Given the description of an element on the screen output the (x, y) to click on. 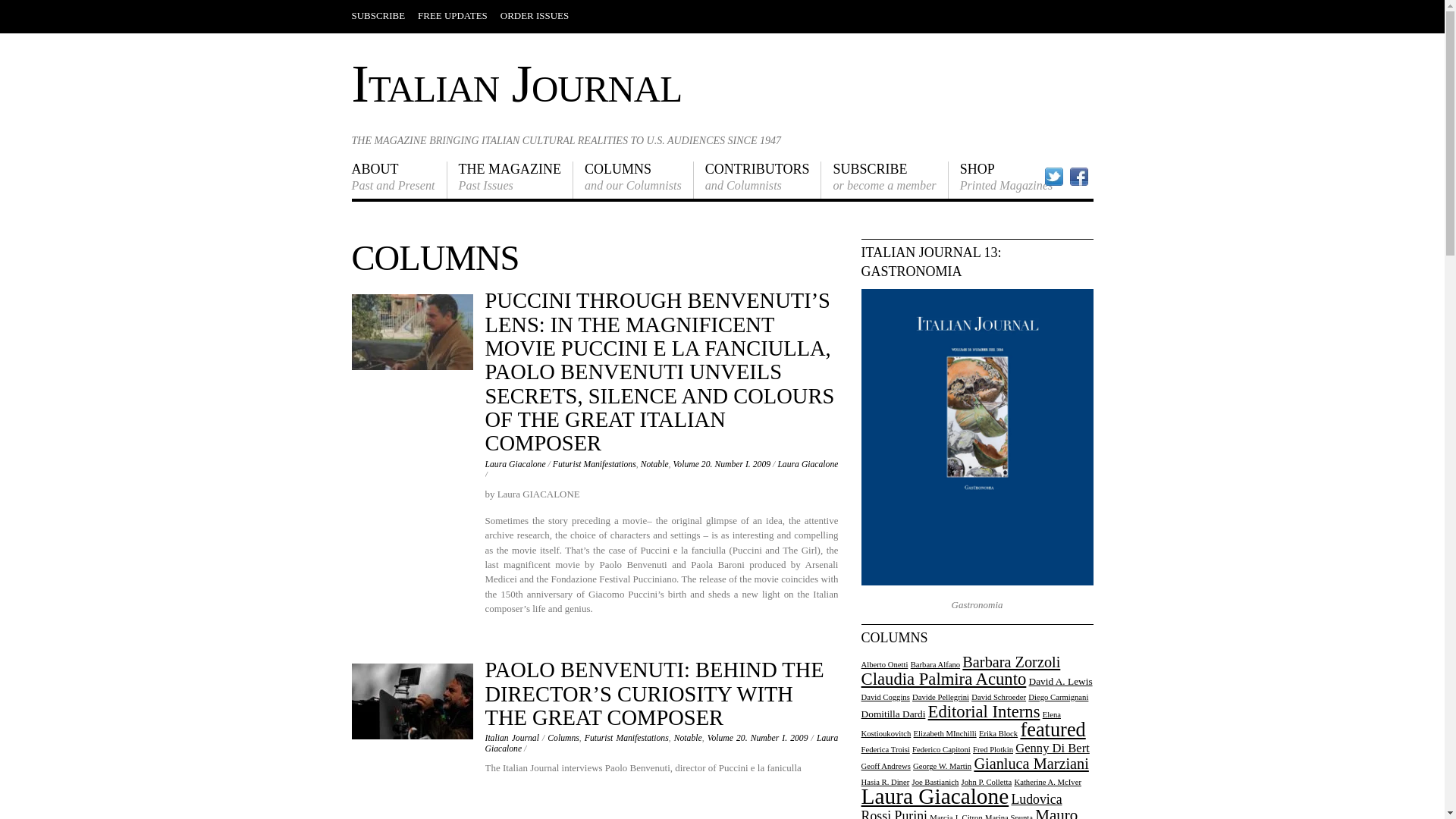
SUBSCRIBE (379, 15)
or become a member (884, 180)
and our Columnists (633, 180)
Italian Journal (758, 180)
Notable (517, 83)
and Columnists (509, 180)
Printed Magazines (654, 464)
Past and Present (758, 180)
